Given the description of an element on the screen output the (x, y) to click on. 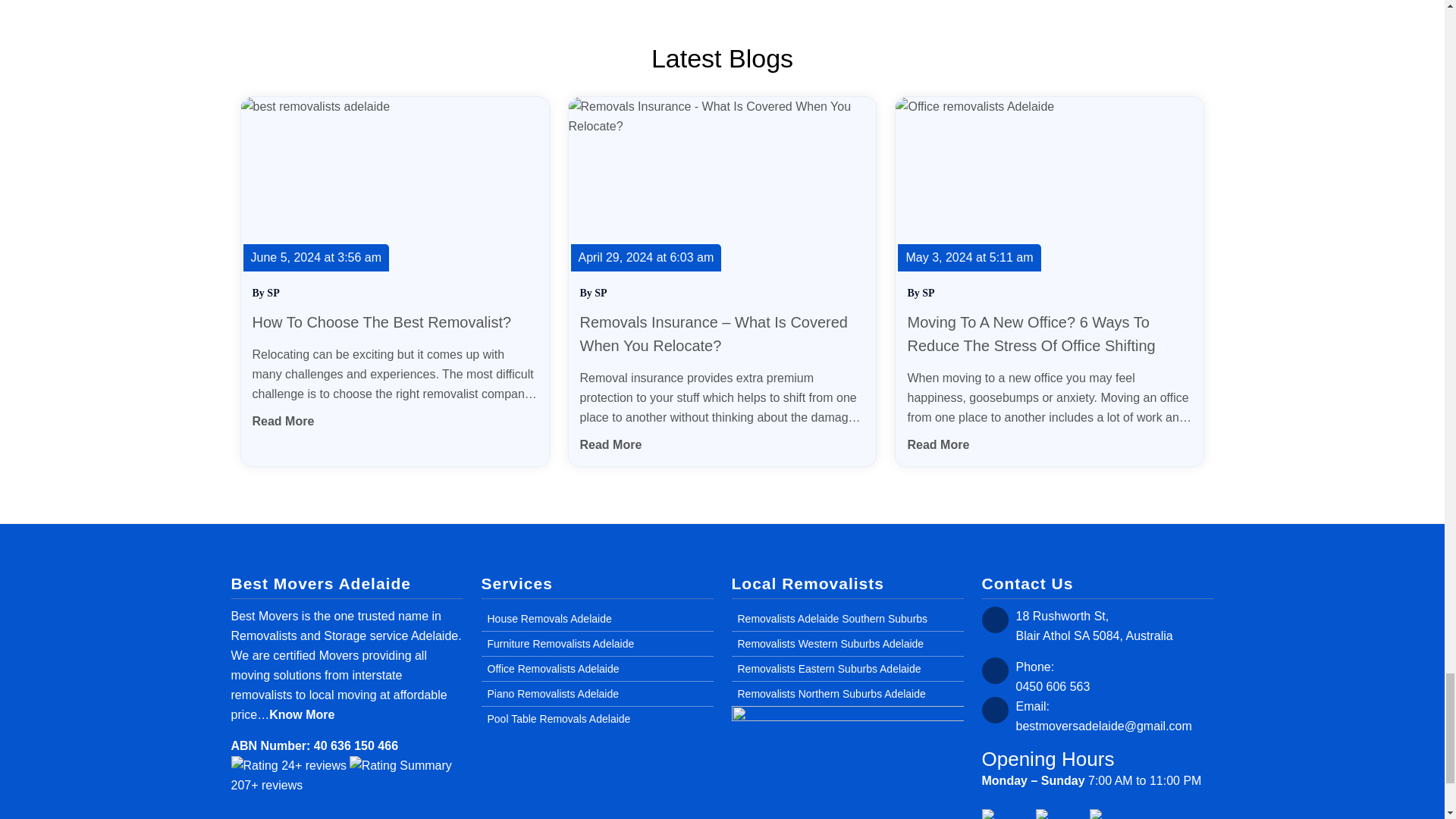
How To Choose The Best Removalist? (381, 321)
